Given the description of an element on the screen output the (x, y) to click on. 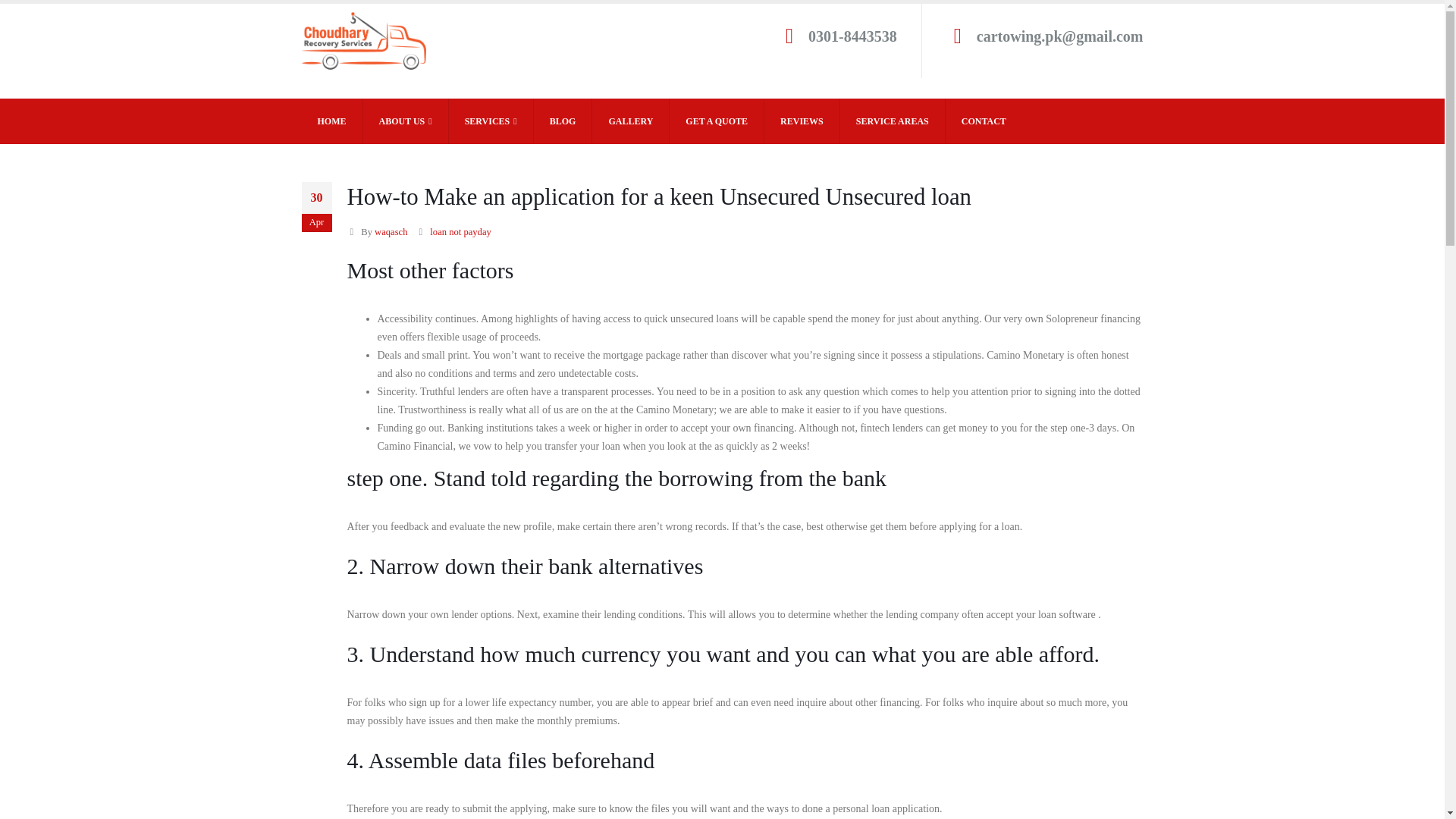
0301-8443538 (852, 36)
GET A QUOTE (716, 121)
CONTACT (983, 121)
Posts by waqasch (390, 231)
BLOG (563, 121)
waqasch (390, 231)
SERVICES (491, 121)
REVIEWS (802, 121)
ABOUT US (405, 121)
GALLERY (630, 121)
